Given the description of an element on the screen output the (x, y) to click on. 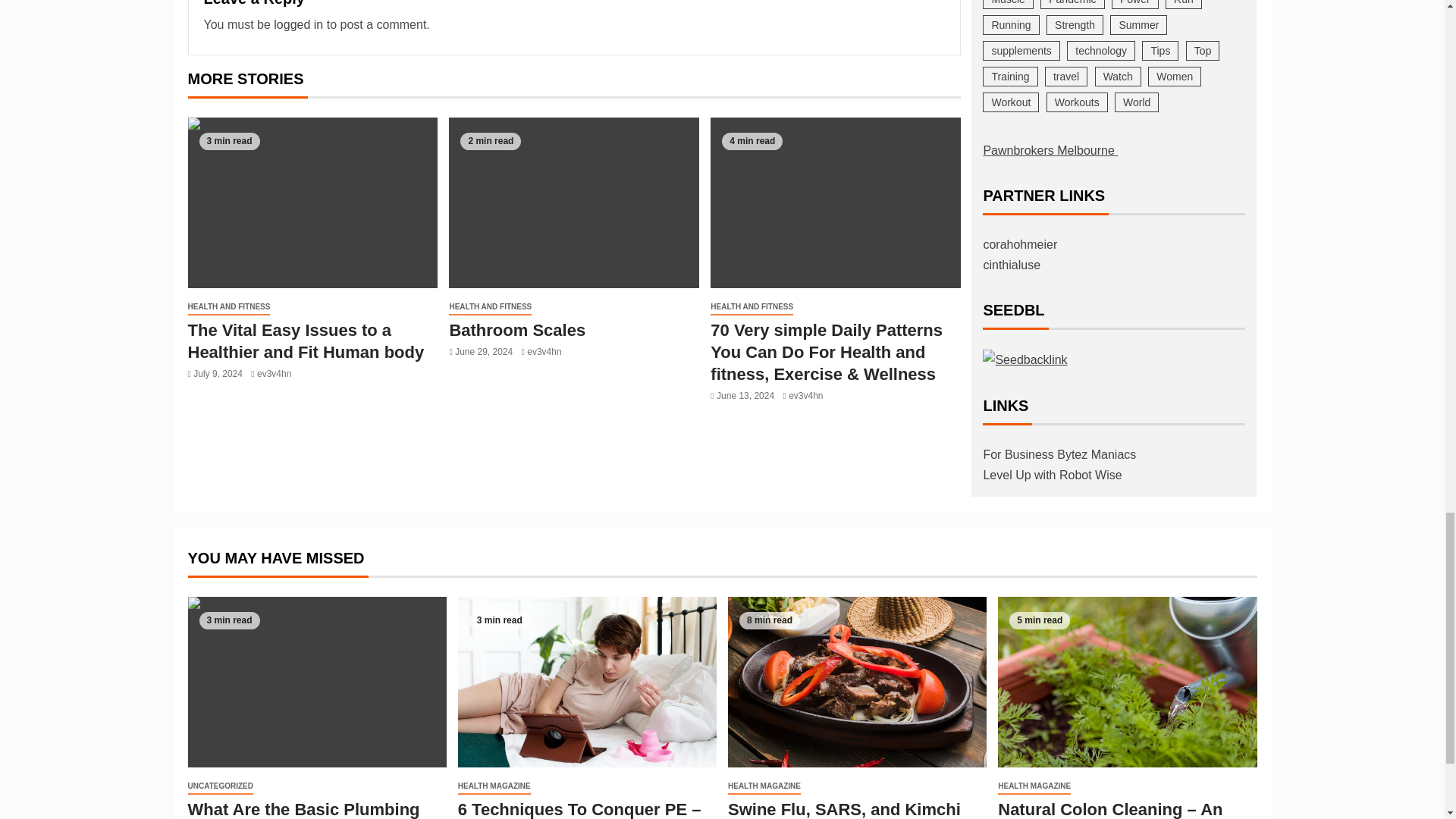
The Vital Easy Issues to a Healthier and Fit Human body (306, 341)
What Are the Basic Plumbing Tips for Every Homeowner? (316, 682)
Swine Flu, SARS, and Kimchi (857, 682)
HEALTH AND FITNESS (489, 307)
The Vital Easy Issues to a Healthier and Fit Human body (312, 202)
Seedbacklink (1024, 359)
logged in (298, 24)
Bathroom Scales (516, 330)
ev3v4hn (274, 373)
HEALTH AND FITNESS (228, 307)
